Given the description of an element on the screen output the (x, y) to click on. 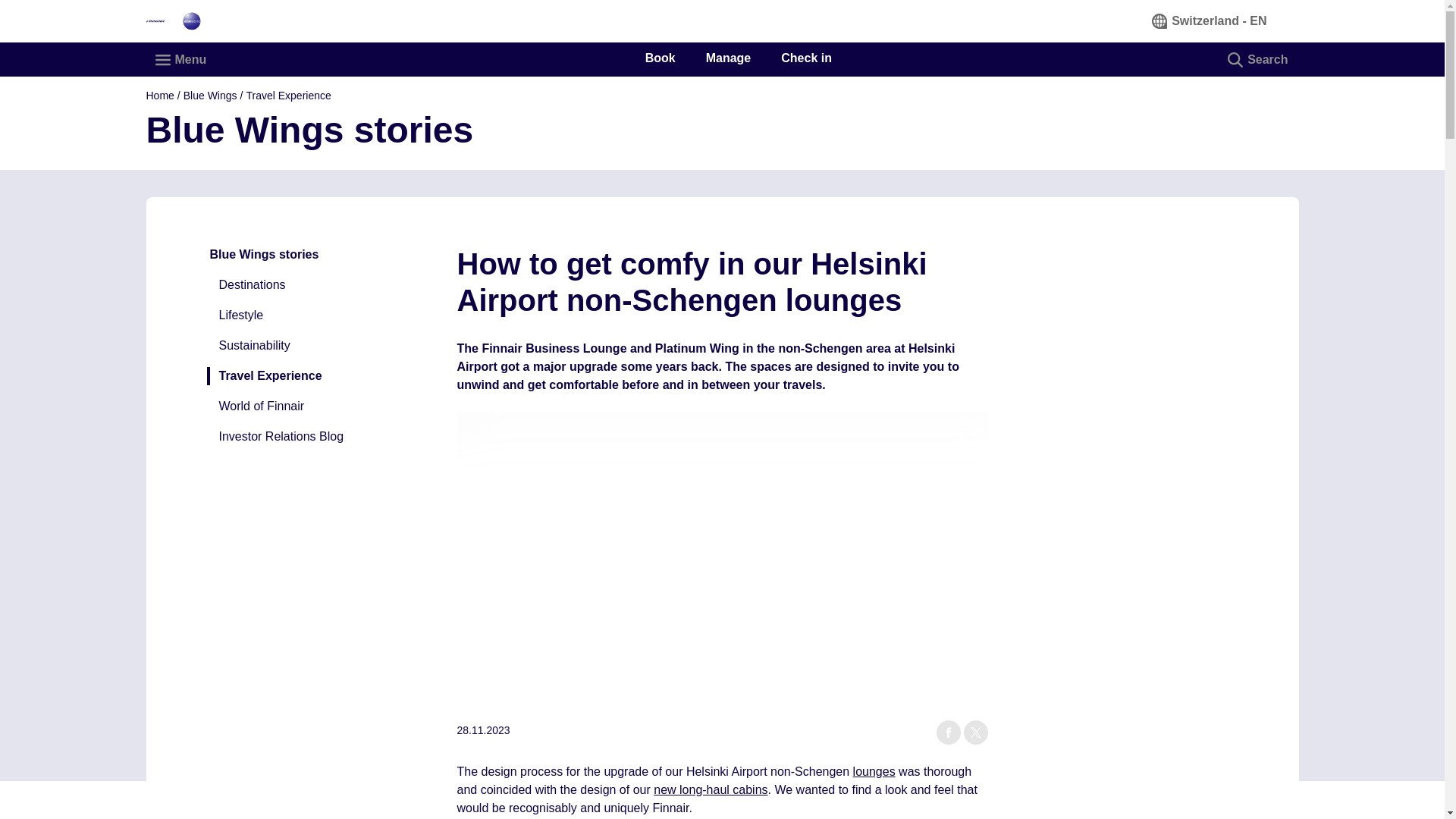
Manage (728, 58)
Switzerland - EN (1209, 20)
Check in (805, 58)
Menu (180, 58)
Book (660, 58)
Search (1258, 58)
